Given the description of an element on the screen output the (x, y) to click on. 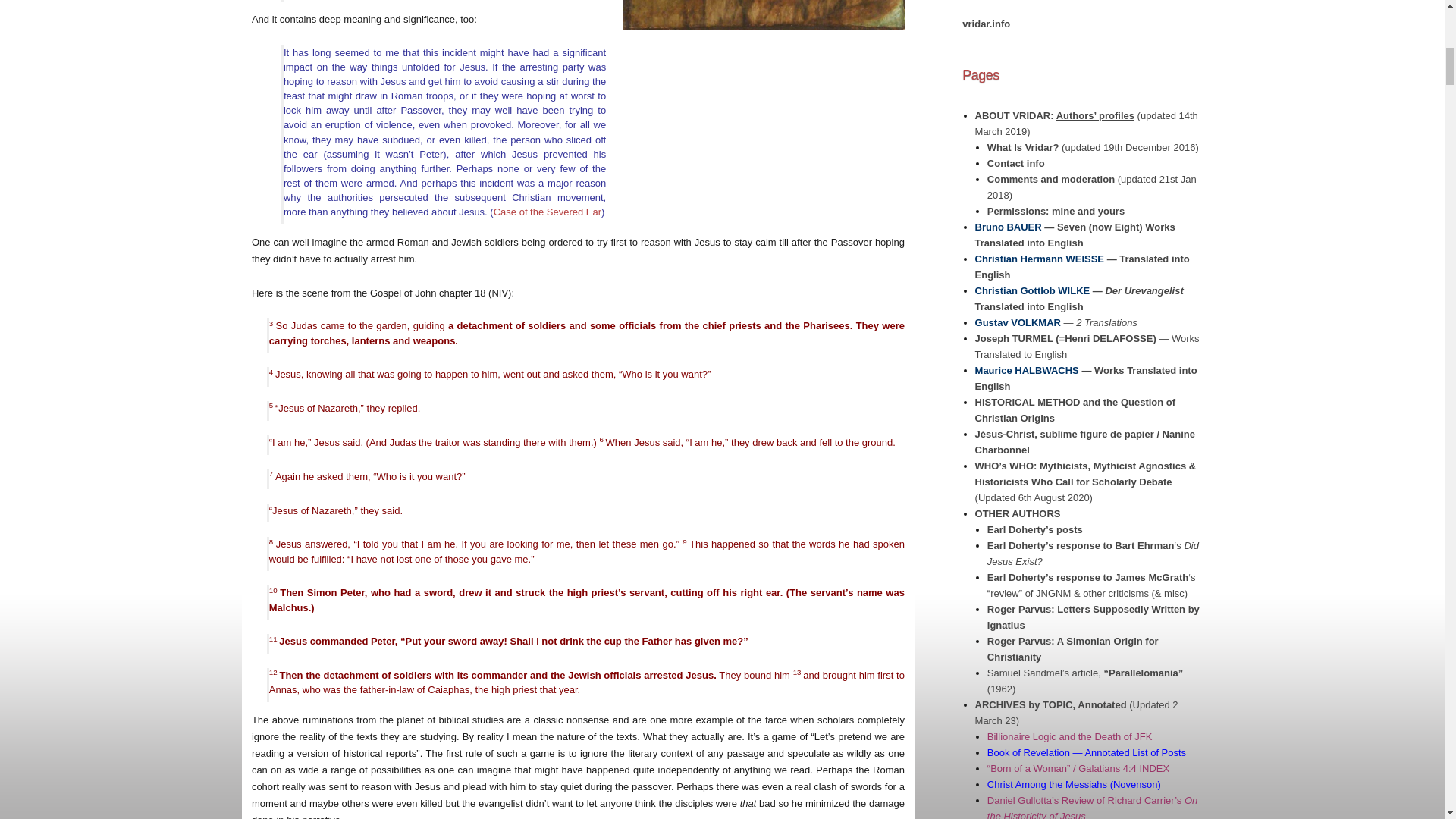
Case of the Severed Ear (547, 211)
